Given the description of an element on the screen output the (x, y) to click on. 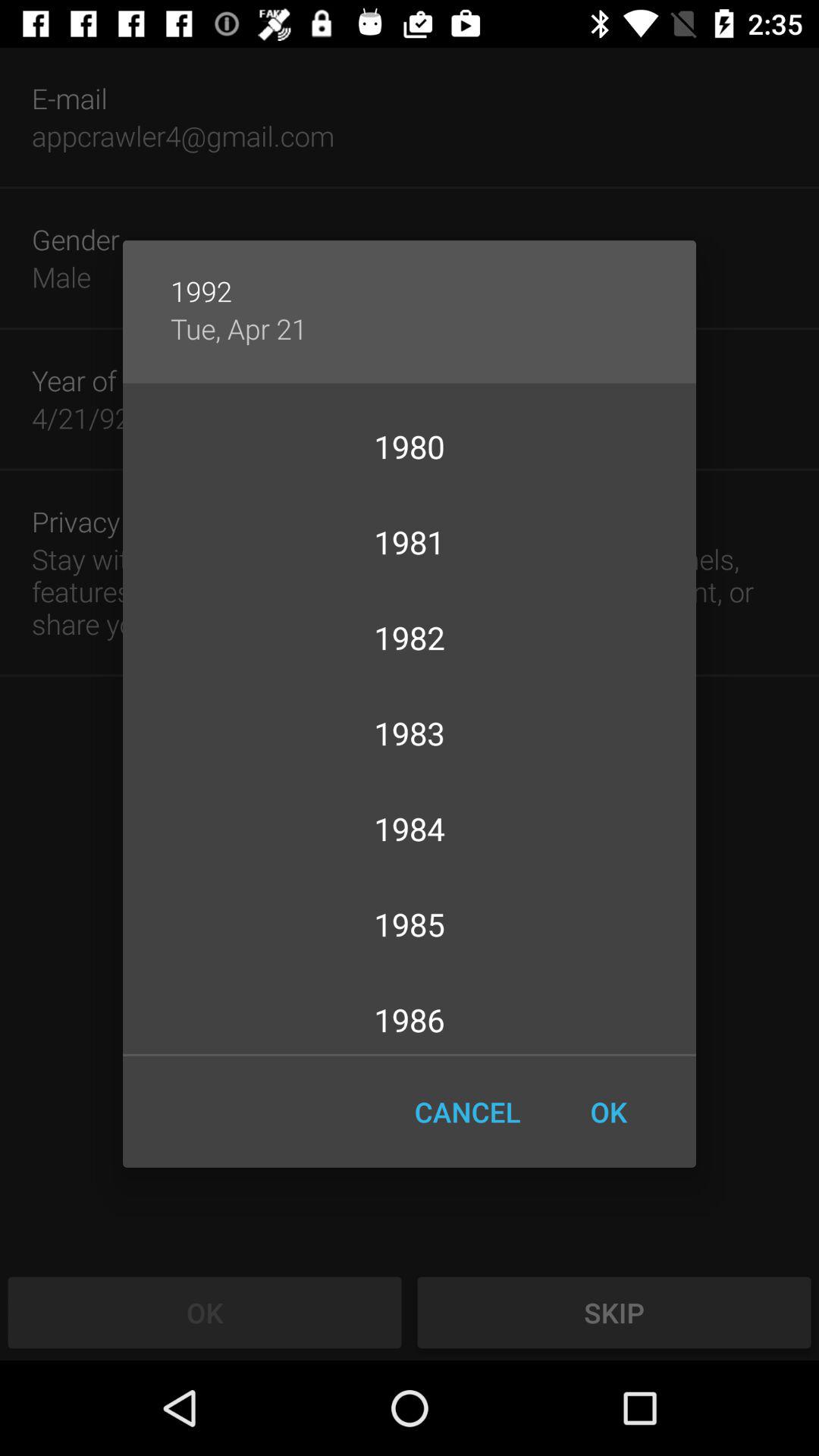
select the icon below 1986 item (608, 1111)
